Given the description of an element on the screen output the (x, y) to click on. 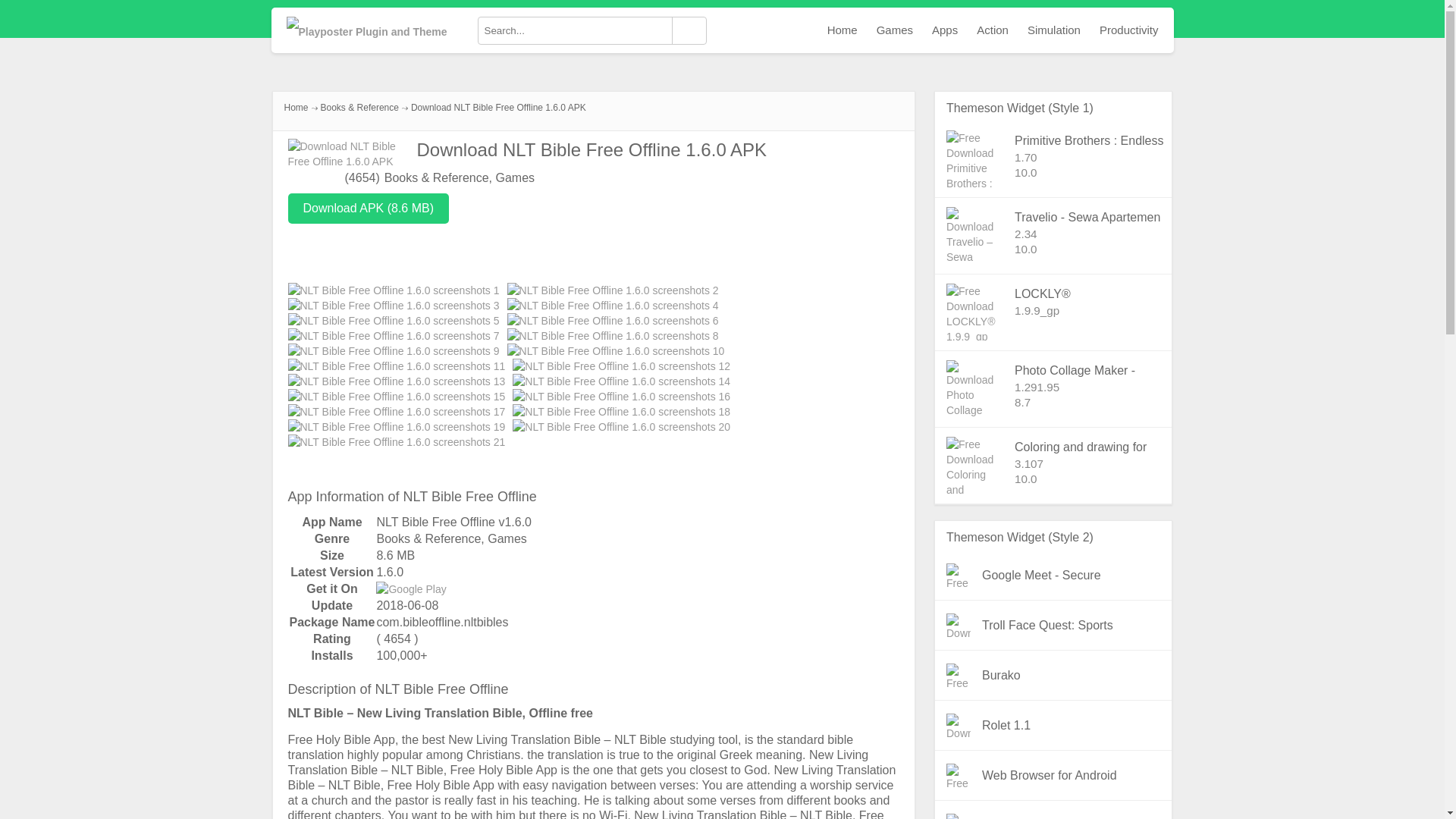
NLT Bible Free Offline v1.6.0 (453, 521)
NLT Bible Free Offline 1.6.0 screenshots 1 (393, 290)
NLT Bible Free Offline 1.6.0 screenshots 5 (393, 320)
NLT Bible Free Offline 1.6.0 screenshots 14 (621, 381)
NLT Bible Free Offline 1.6.0 screenshots 2 (612, 290)
NLT Bible Free Offline 1.6.0 screenshots 13 (396, 381)
NLT Bible Free Offline 1.6.0 screenshots 6 (612, 320)
Games (515, 177)
NLT Bible Free Offline 1.6.0 screenshots 9 (393, 350)
Games (507, 538)
